Given the description of an element on the screen output the (x, y) to click on. 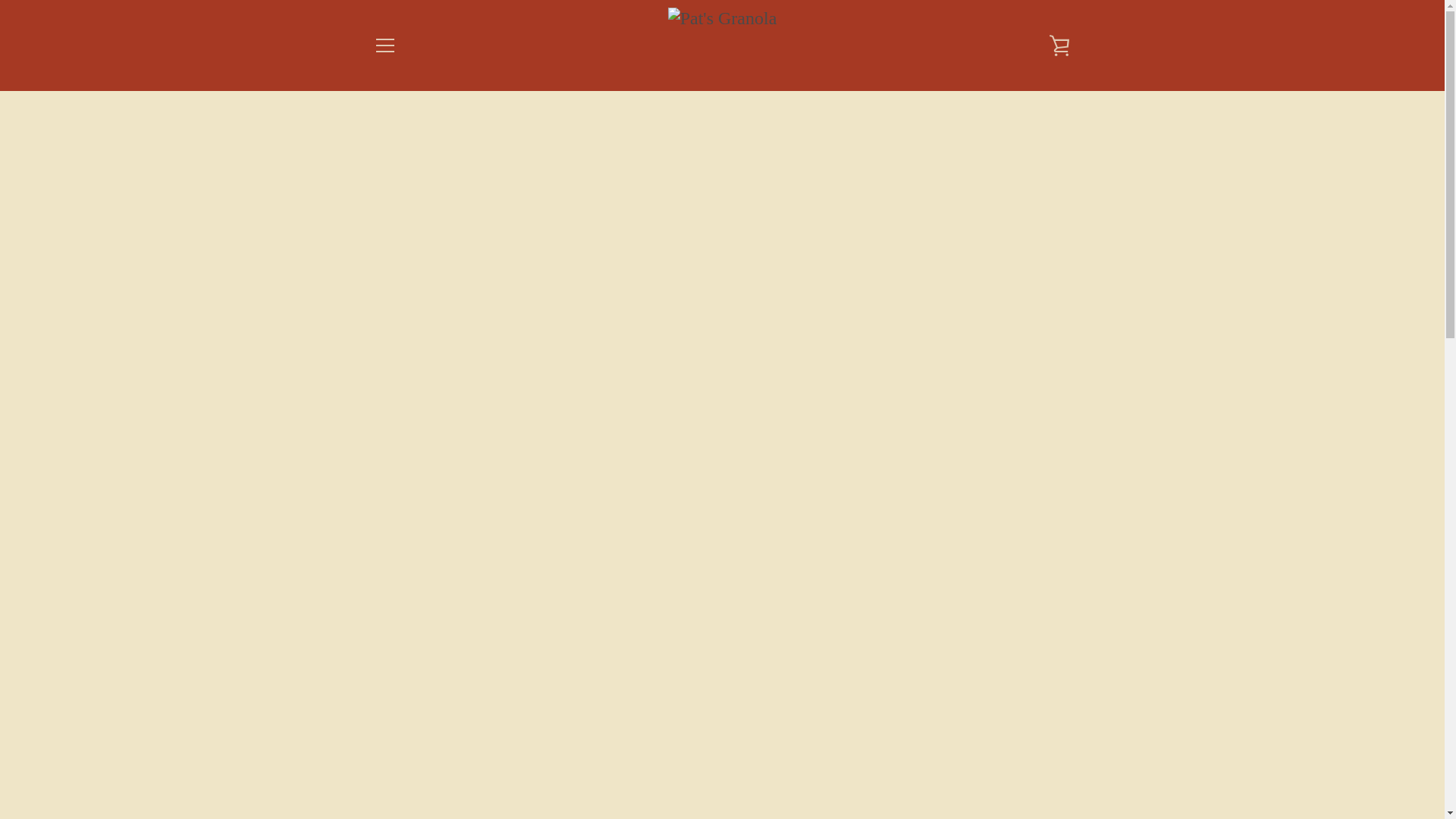
MENU (384, 45)
VIEW CART (1059, 45)
